Given the description of an element on the screen output the (x, y) to click on. 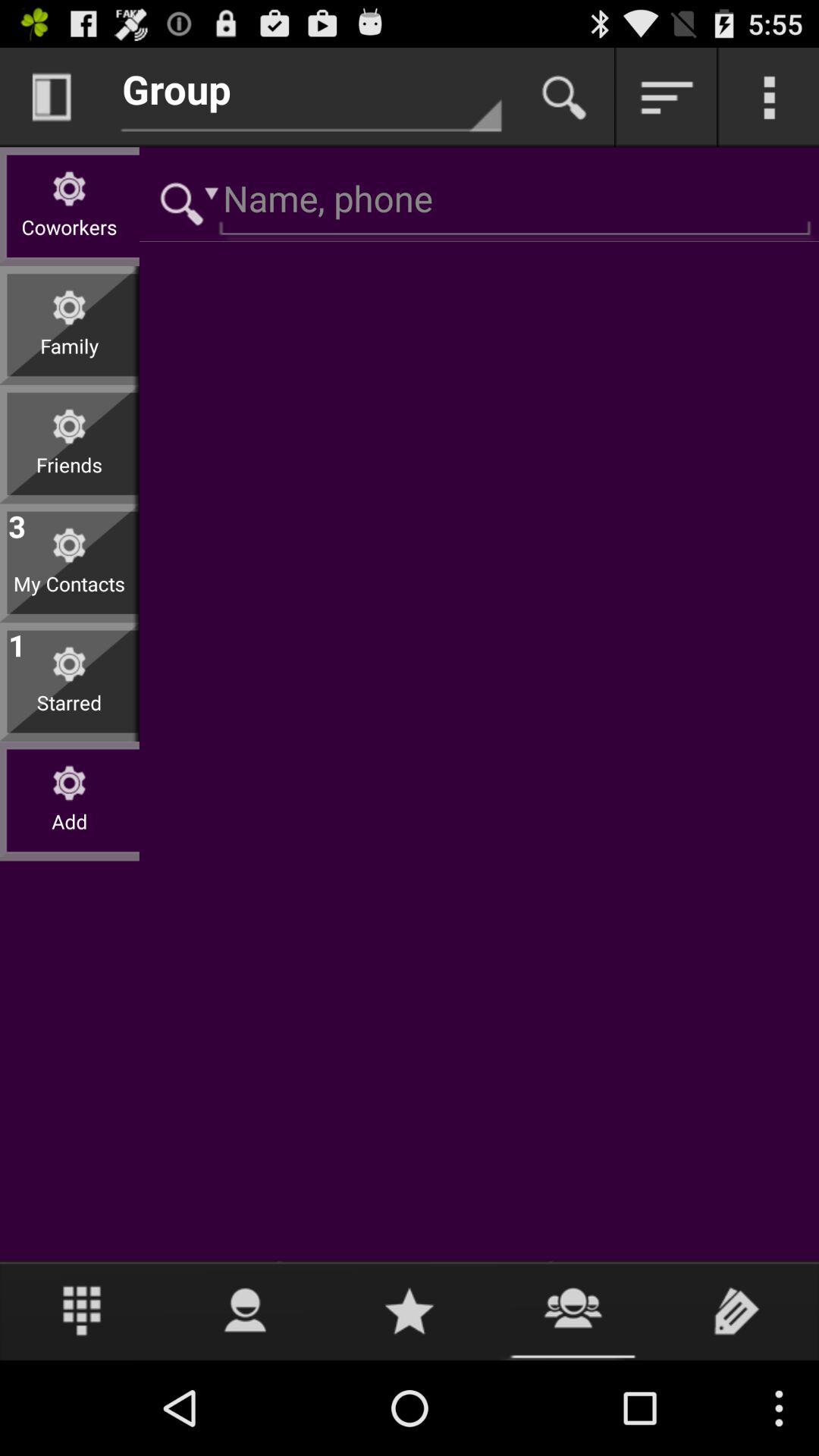
enter name and phone number (479, 201)
